Given the description of an element on the screen output the (x, y) to click on. 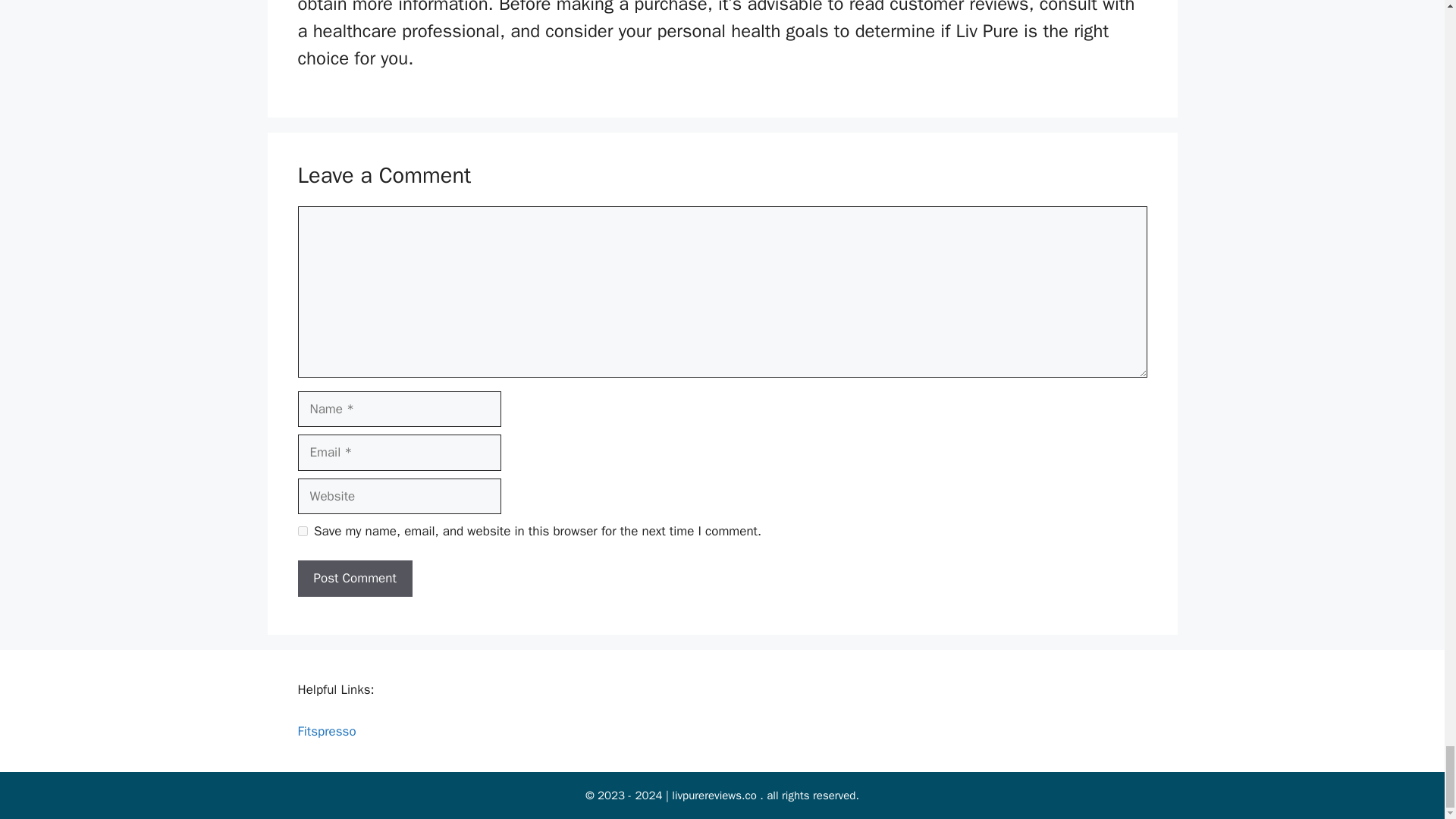
Post Comment (354, 578)
yes (302, 531)
Fitspresso (326, 731)
Post Comment (354, 578)
